Given the description of an element on the screen output the (x, y) to click on. 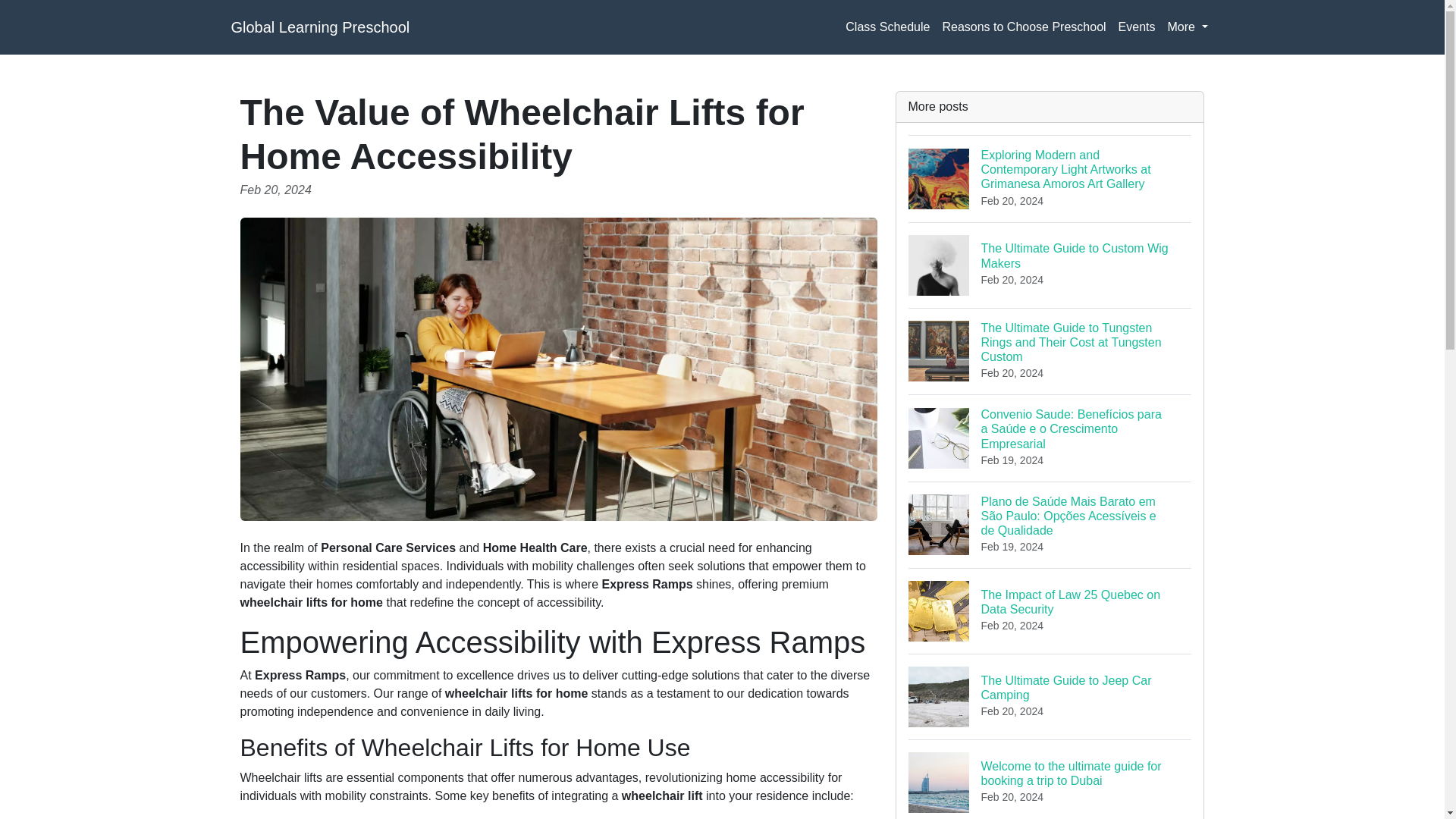
Events (1050, 696)
More (1136, 27)
Reasons to Choose Preschool (1050, 264)
Class Schedule (1187, 27)
Global Learning Preschool (1024, 27)
